Given the description of an element on the screen output the (x, y) to click on. 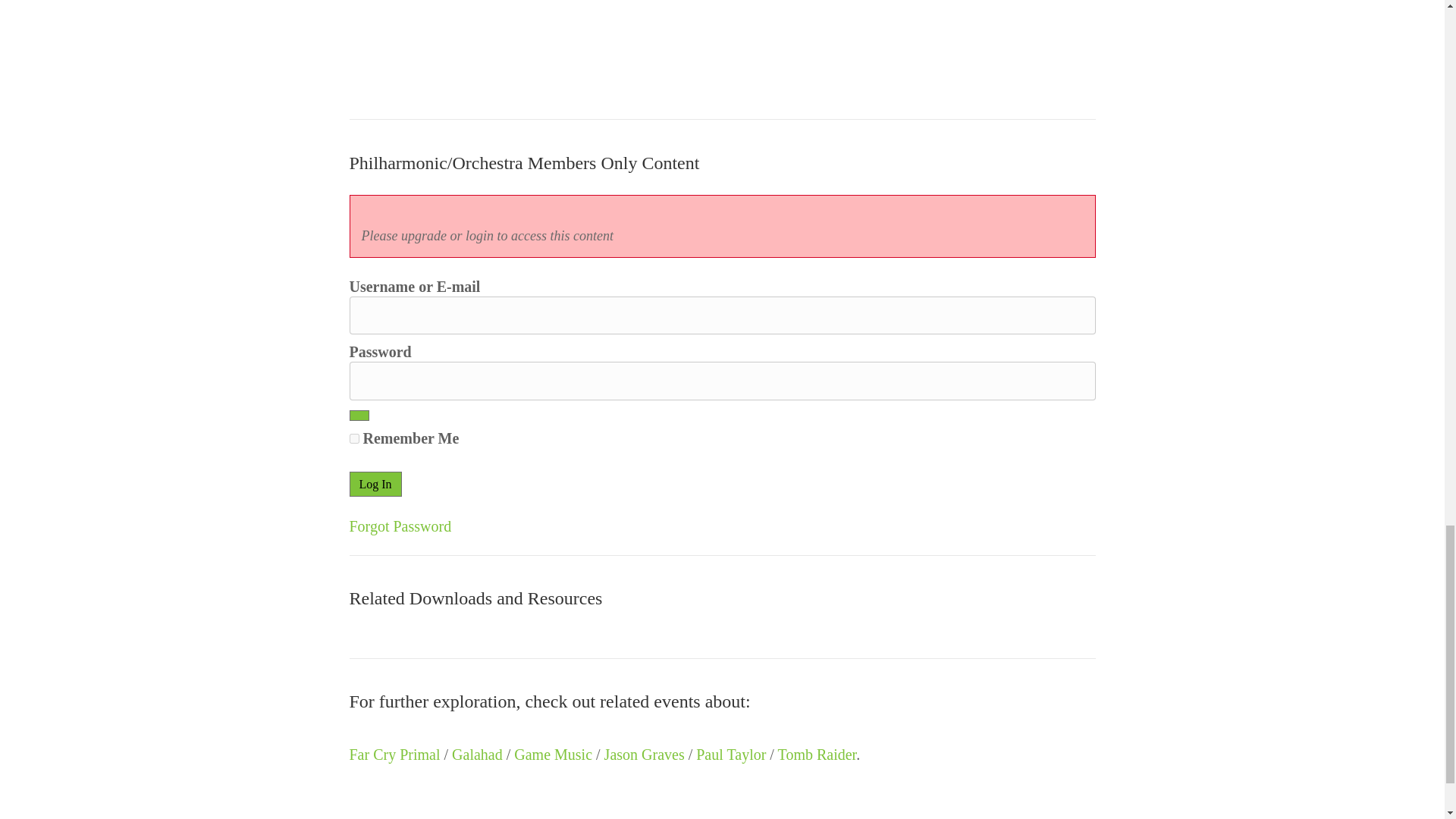
forever (353, 438)
Log In (375, 483)
How Jason Graves Pitched and Scored Far Cry Primal (462, 42)
